Given the description of an element on the screen output the (x, y) to click on. 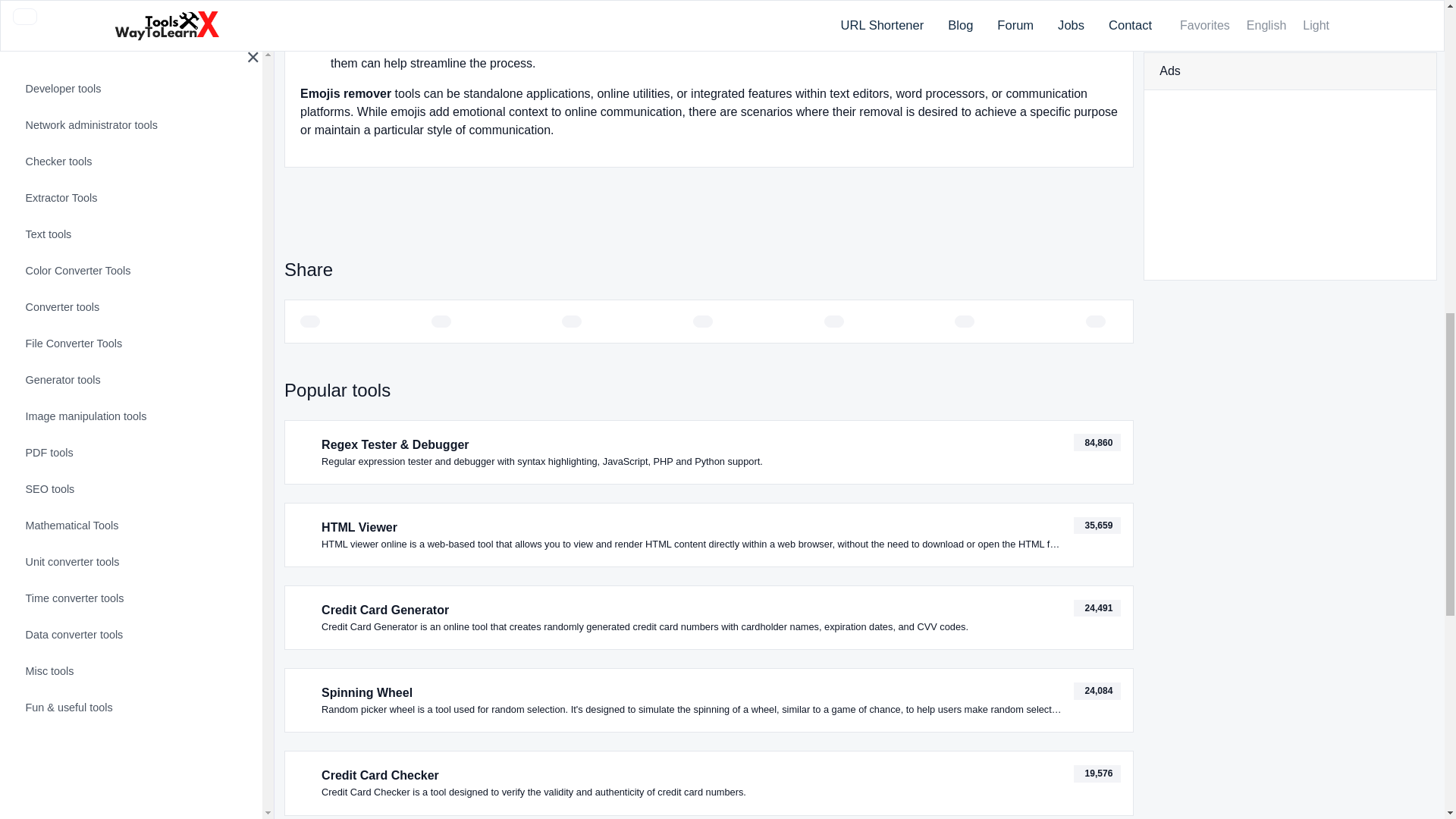
Total views (1097, 691)
Total views (1097, 525)
Total views (1097, 608)
Total views (1097, 773)
Total views (1097, 442)
